Given the description of an element on the screen output the (x, y) to click on. 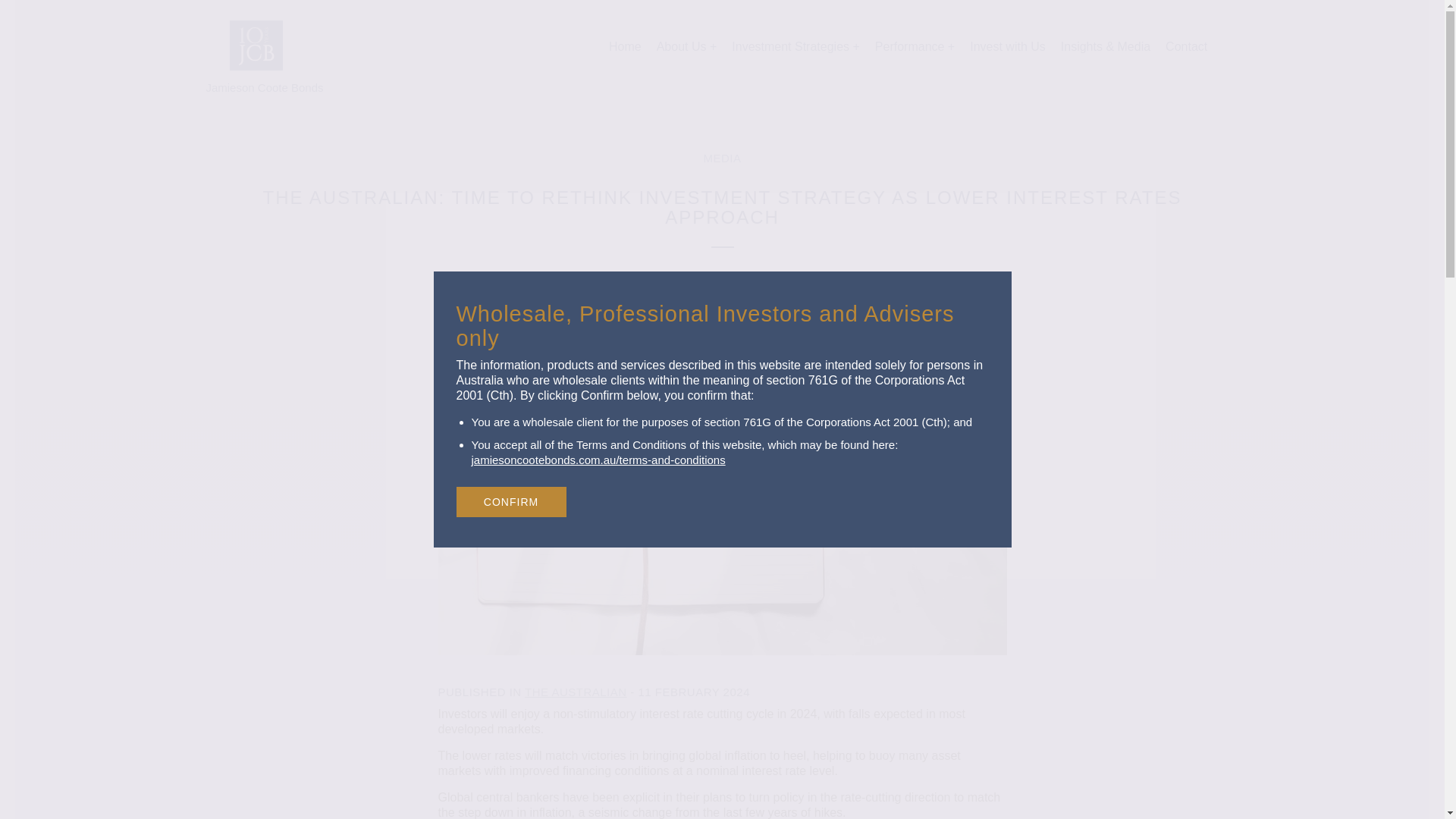
Contact (1185, 45)
THE AUSTRALIAN (575, 691)
Jamieson Coote Bonds (255, 45)
Invest with Us (1007, 45)
CONFIRM (511, 501)
